Given the description of an element on the screen output the (x, y) to click on. 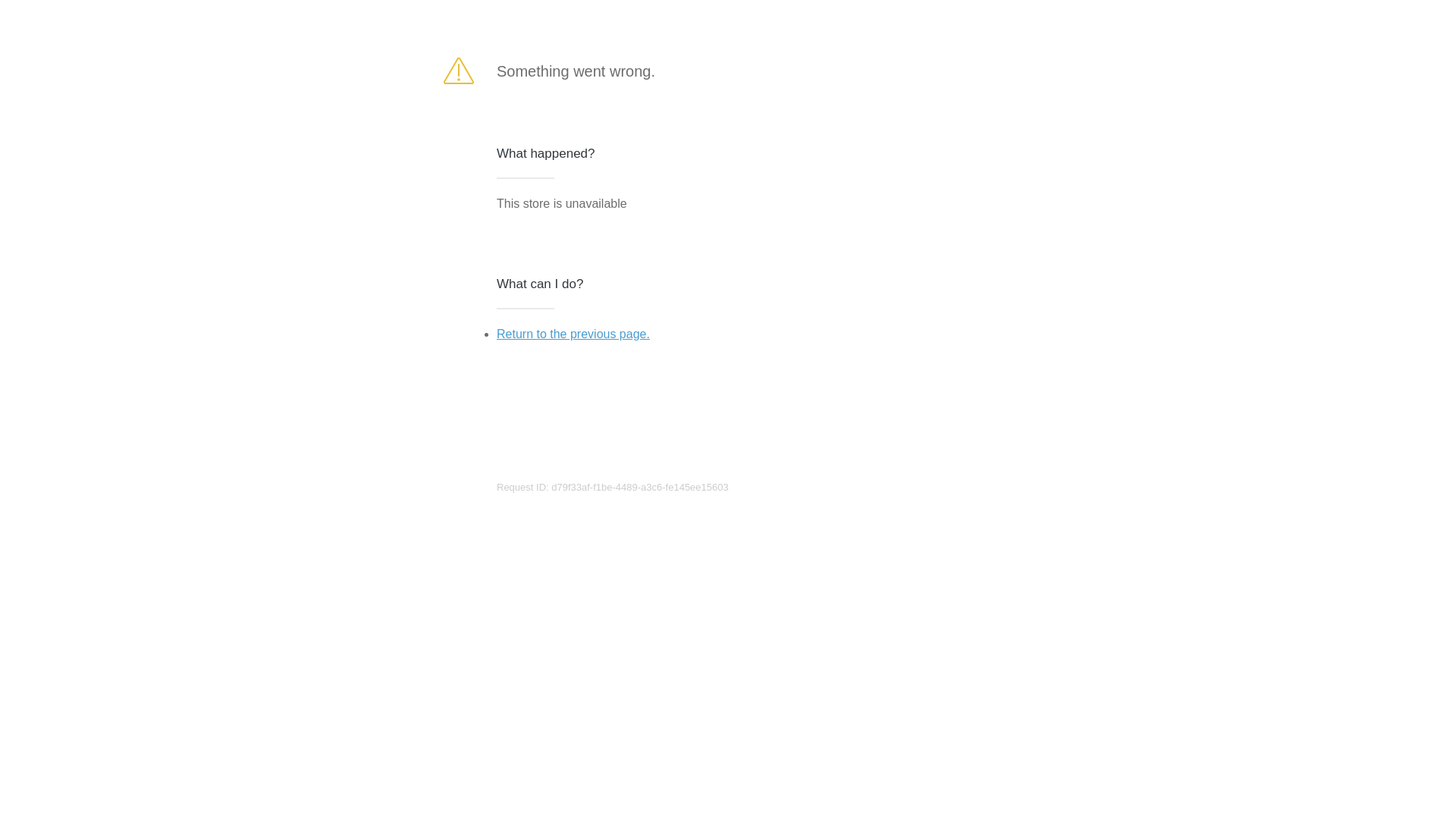
Return to the previous page. Element type: text (572, 333)
